Given the description of an element on the screen output the (x, y) to click on. 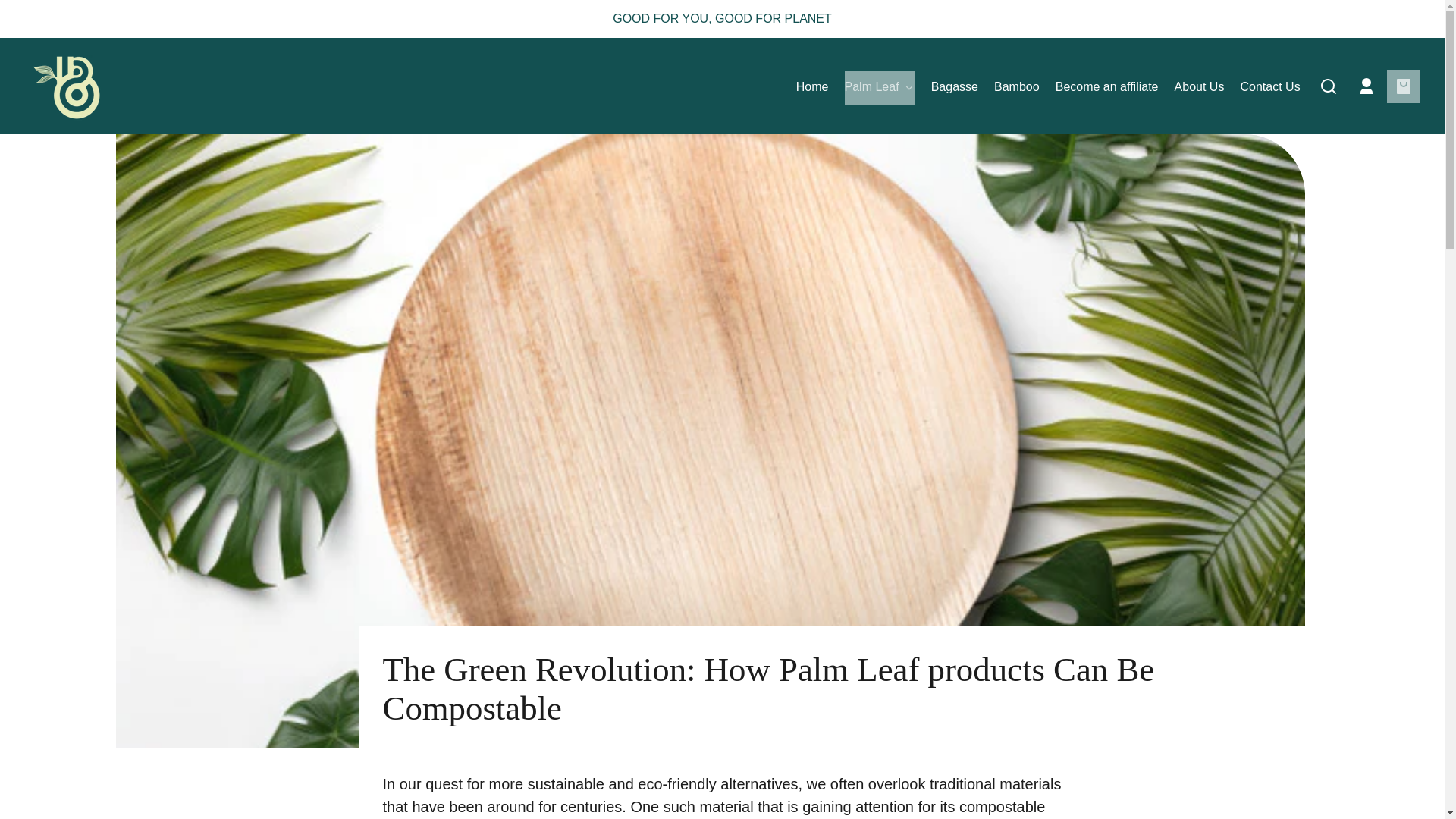
Home (812, 87)
Bamboo (1016, 87)
Contact Us (1270, 87)
SKIP TO CONTENT (25, 16)
Bagasse (954, 87)
Log in (1366, 86)
About Us (1199, 87)
Your bag (1404, 86)
Become an affiliate (1106, 87)
Palm Leaf (879, 87)
